Given the description of an element on the screen output the (x, y) to click on. 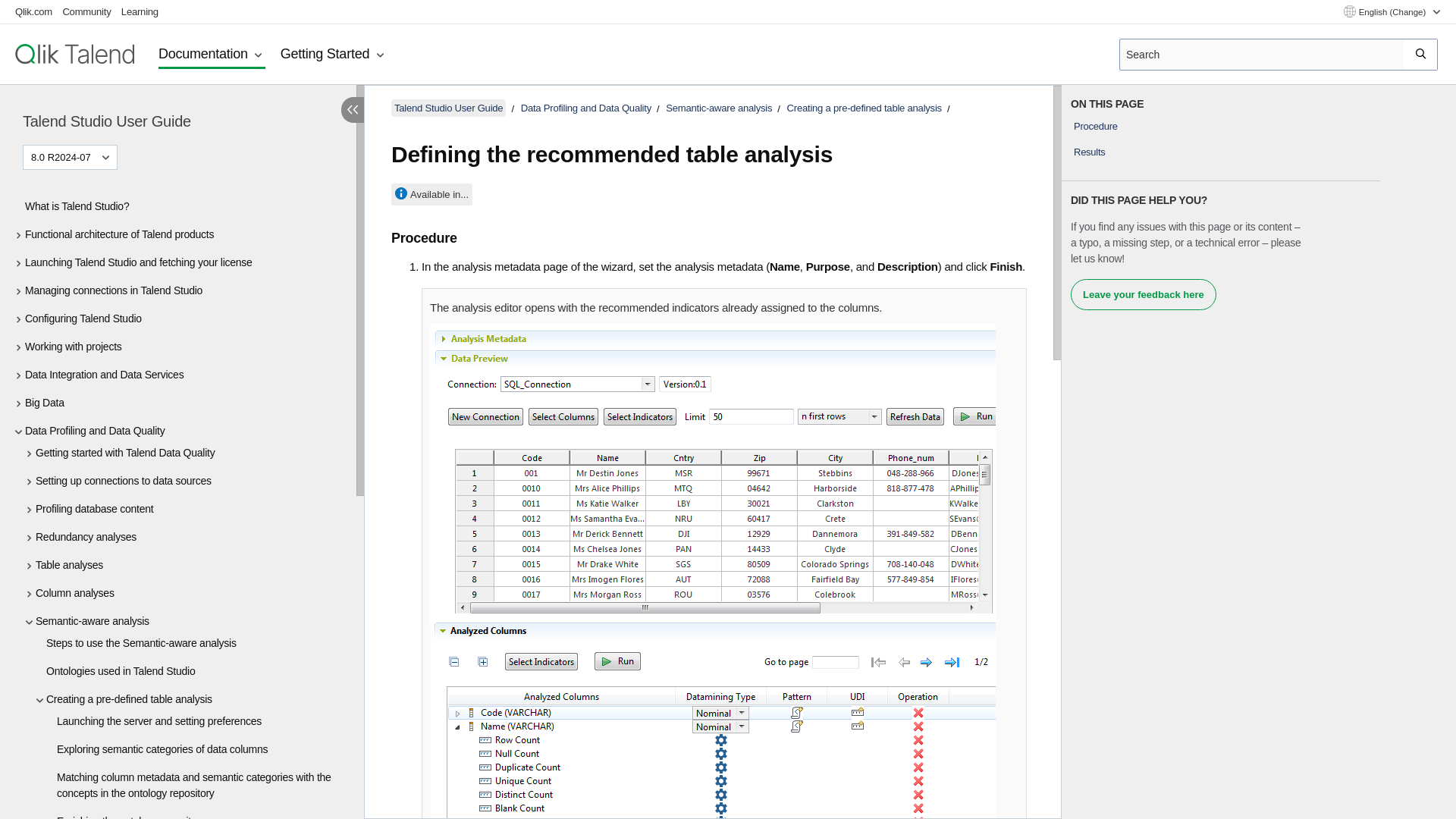
Search (1421, 54)
Learning (139, 11)
Getting Started (334, 54)
Community (86, 11)
Qlik.com (33, 11)
Documentation (211, 54)
